Given the description of an element on the screen output the (x, y) to click on. 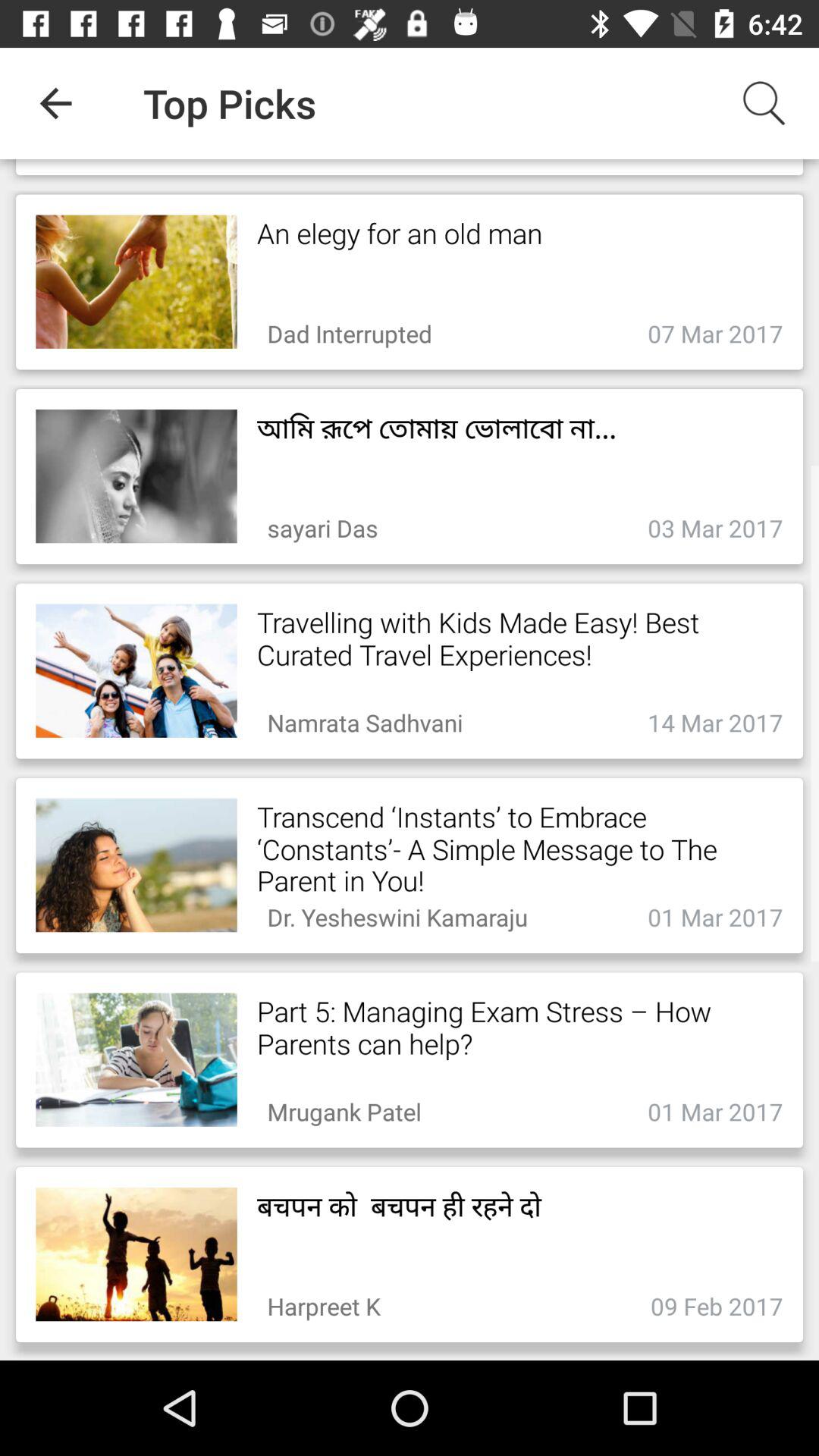
tap the icon next to 01 mar 2017 icon (344, 1107)
